Given the description of an element on the screen output the (x, y) to click on. 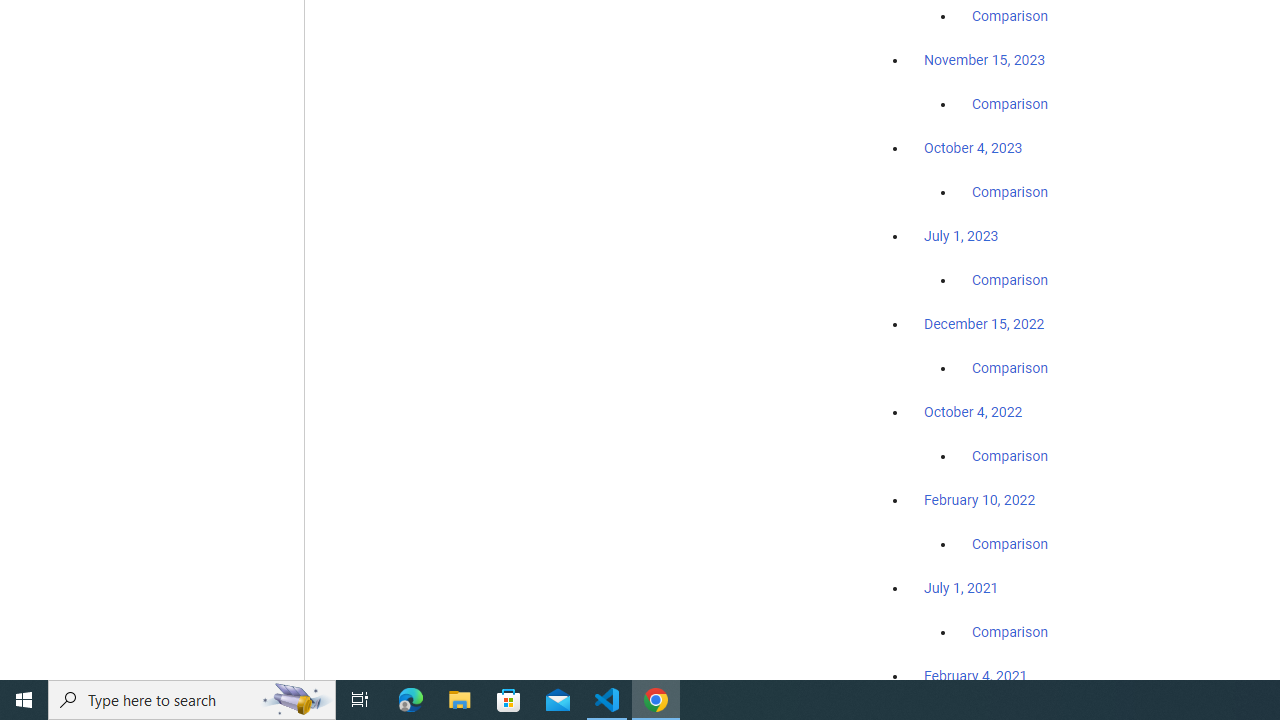
July 1, 2021 (961, 587)
July 1, 2023 (961, 236)
February 4, 2021 (975, 675)
December 15, 2022 (984, 323)
November 15, 2023 (984, 60)
October 4, 2022 (973, 412)
Comparison (1009, 631)
October 4, 2023 (973, 148)
February 10, 2022 (979, 500)
